Given the description of an element on the screen output the (x, y) to click on. 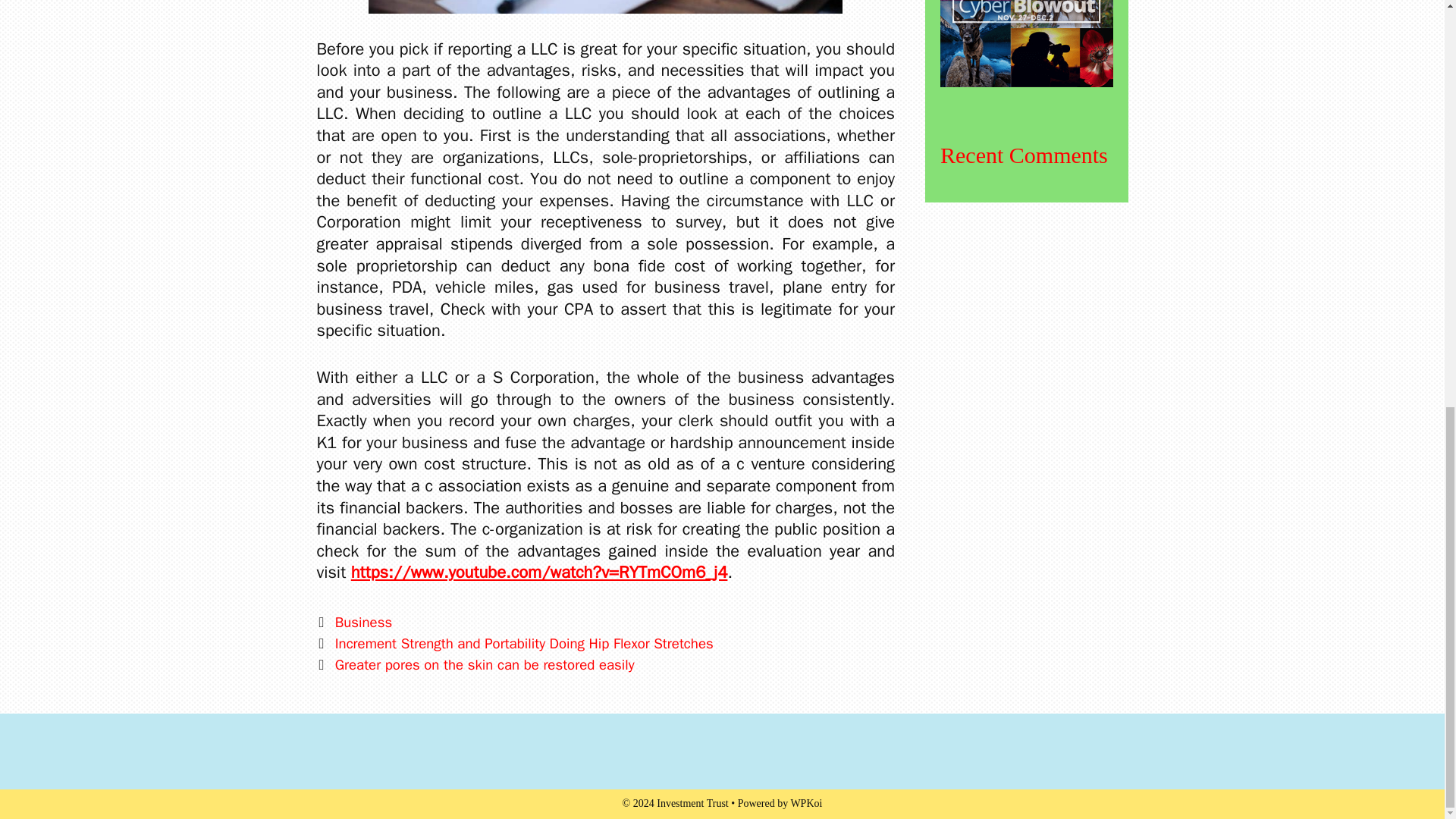
Previous (515, 643)
Greater pores on the skin can be restored easily (484, 665)
WPKoi (806, 803)
Business (362, 622)
Next (475, 665)
